Given the description of an element on the screen output the (x, y) to click on. 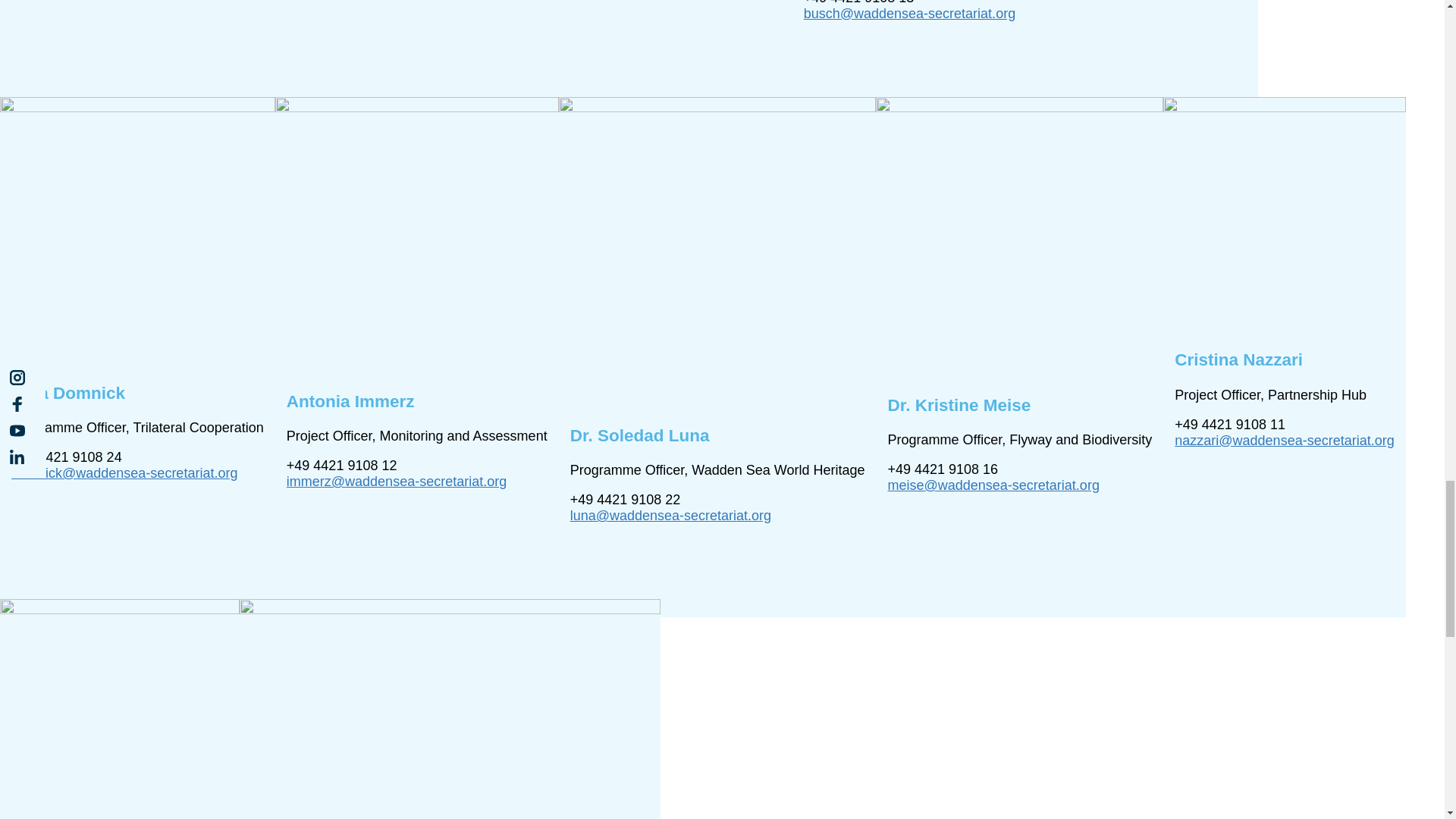
Anja Domnick. CWSS. (137, 234)
Kristine Meise. Private. (1019, 240)
Rebecca Stewart. Private. (450, 708)
